Given the description of an element on the screen output the (x, y) to click on. 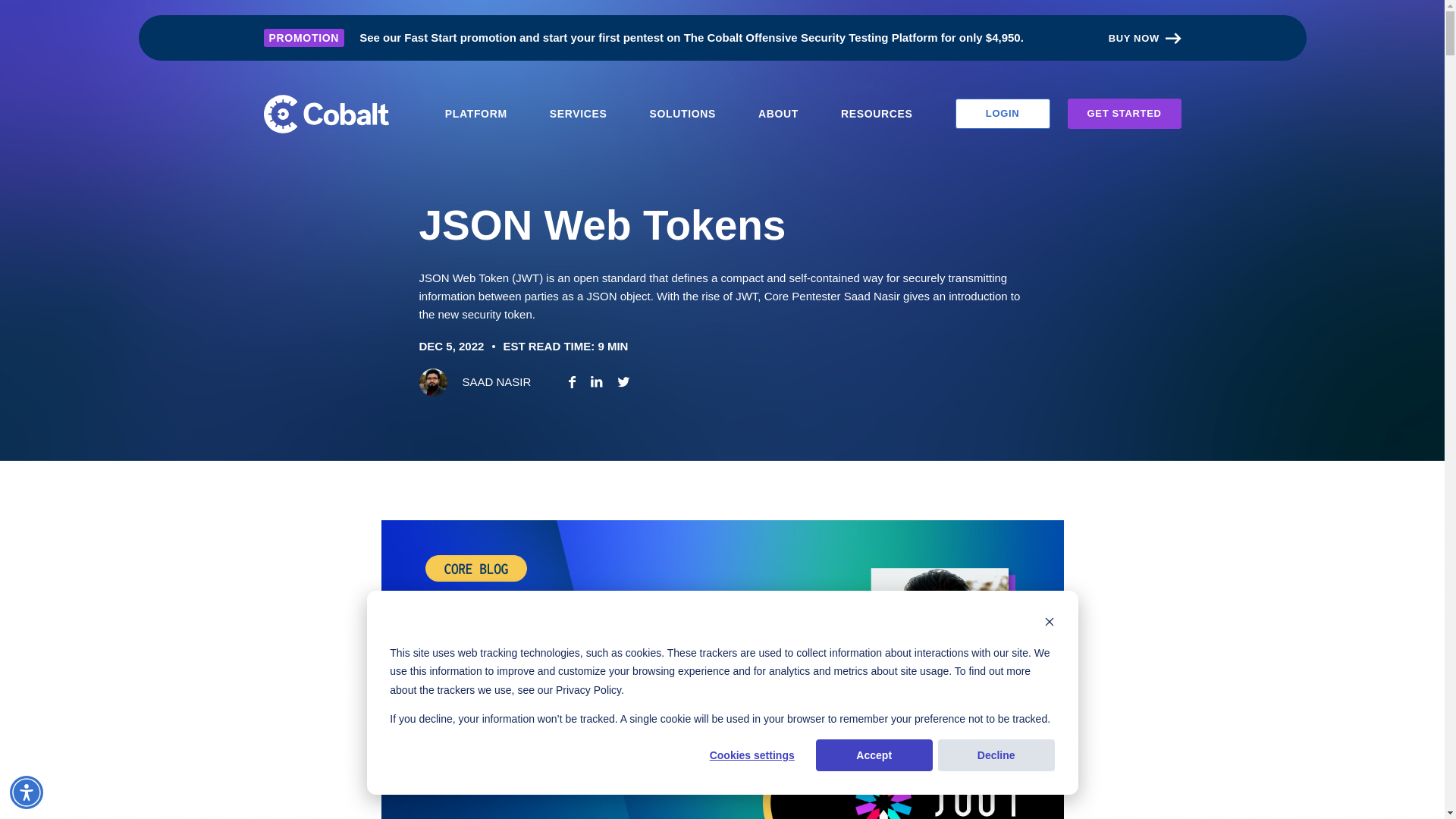
PROMOTION (304, 37)
BUY NOW (1144, 38)
Accessibility Menu (26, 792)
SERVICES (578, 113)
